Given the description of an element on the screen output the (x, y) to click on. 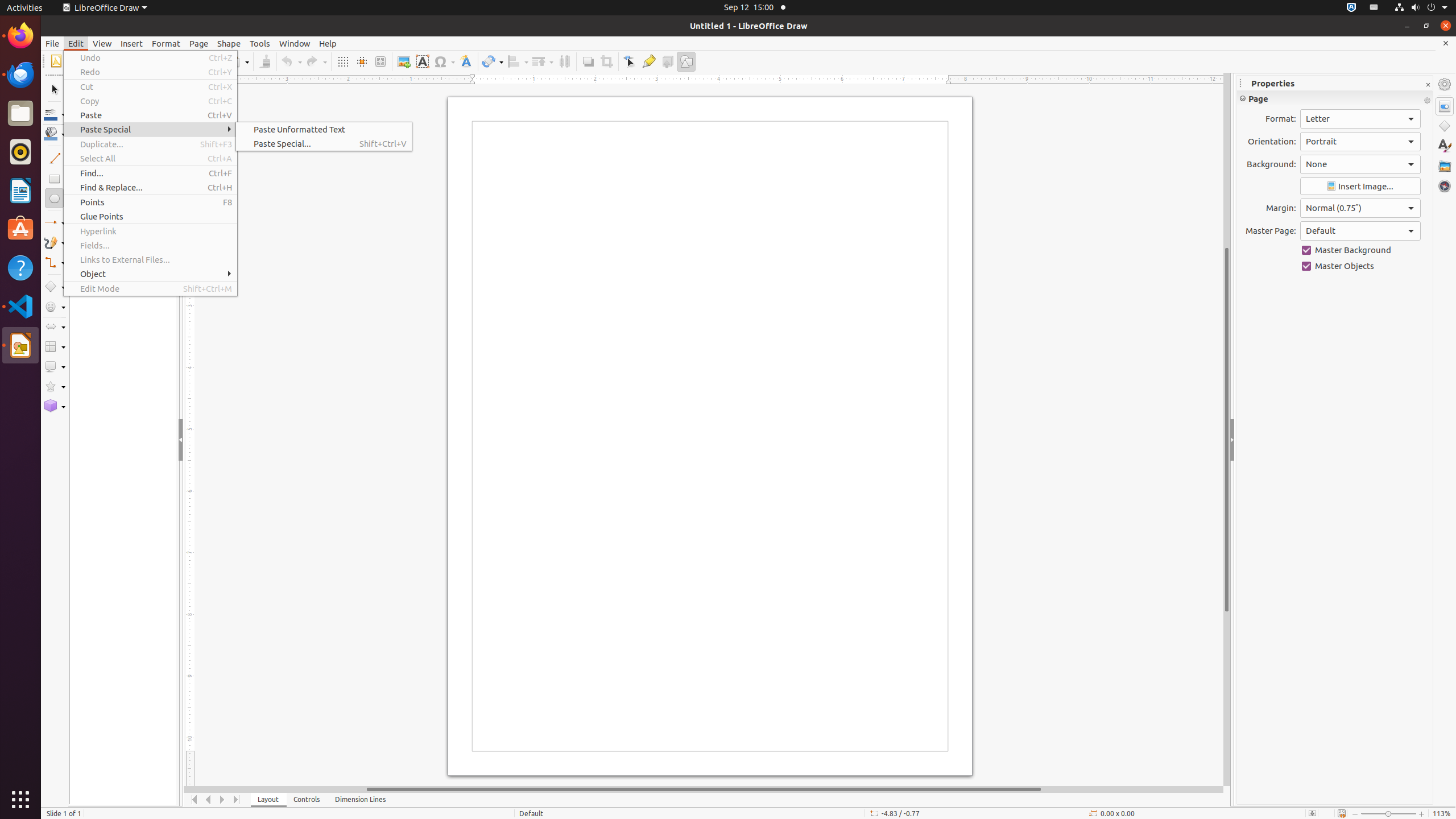
Clone Element type: push-button (264, 61)
Undo Element type: menu-item (150, 57)
Gallery Element type: radio-button (1444, 165)
Master Objects Element type: check-box (1360, 265)
Thunderbird Mail Element type: push-button (20, 74)
